Given the description of an element on the screen output the (x, y) to click on. 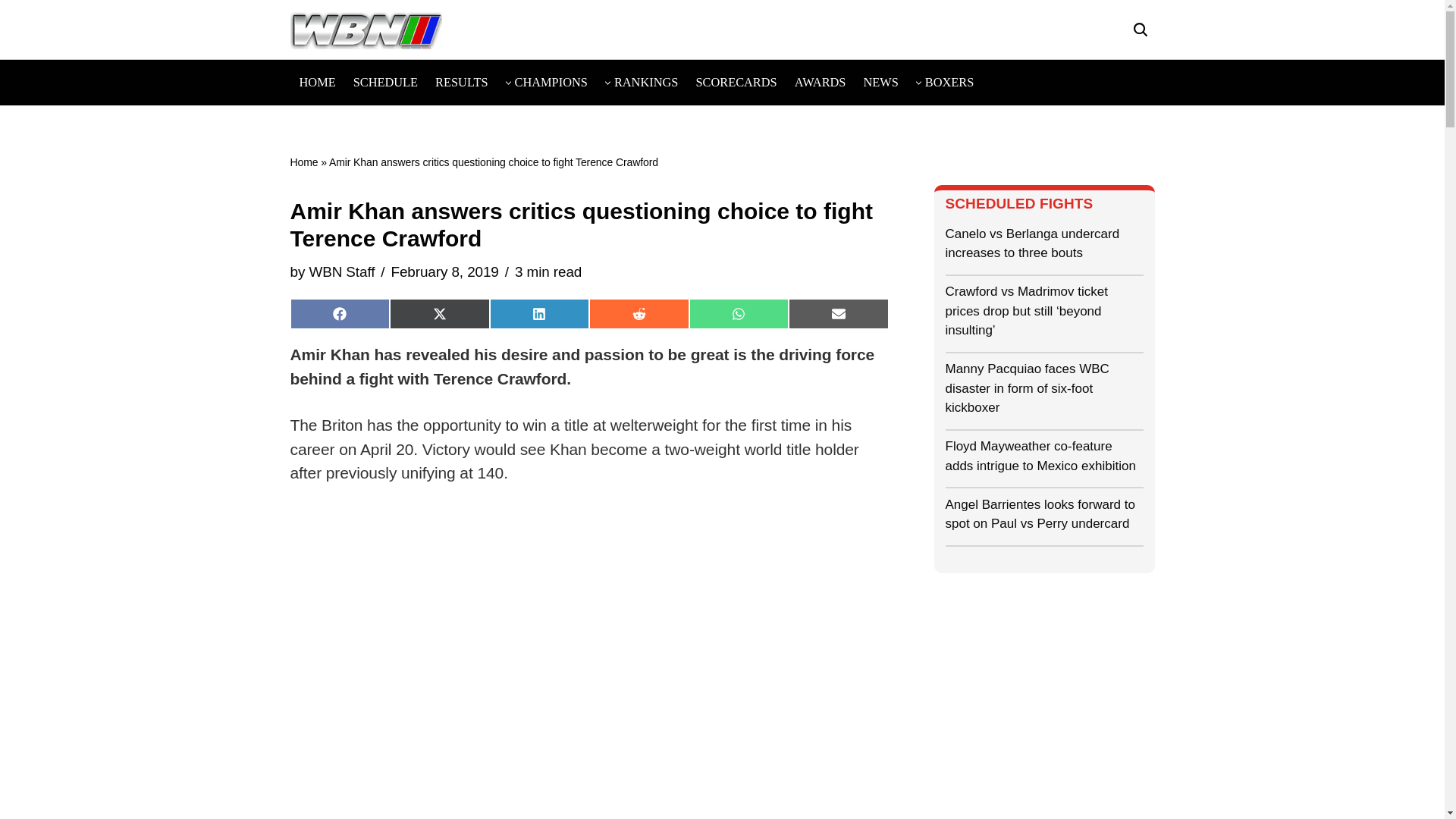
Skip to content (11, 31)
Posts by WBN Staff (341, 271)
SCORECARDS (735, 81)
BOXERS (949, 81)
RESULTS (461, 81)
AWARDS (819, 81)
RANKINGS (646, 81)
CHAMPIONS (551, 81)
HOME (316, 81)
SCHEDULE (385, 81)
NEWS (880, 81)
